Given the description of an element on the screen output the (x, y) to click on. 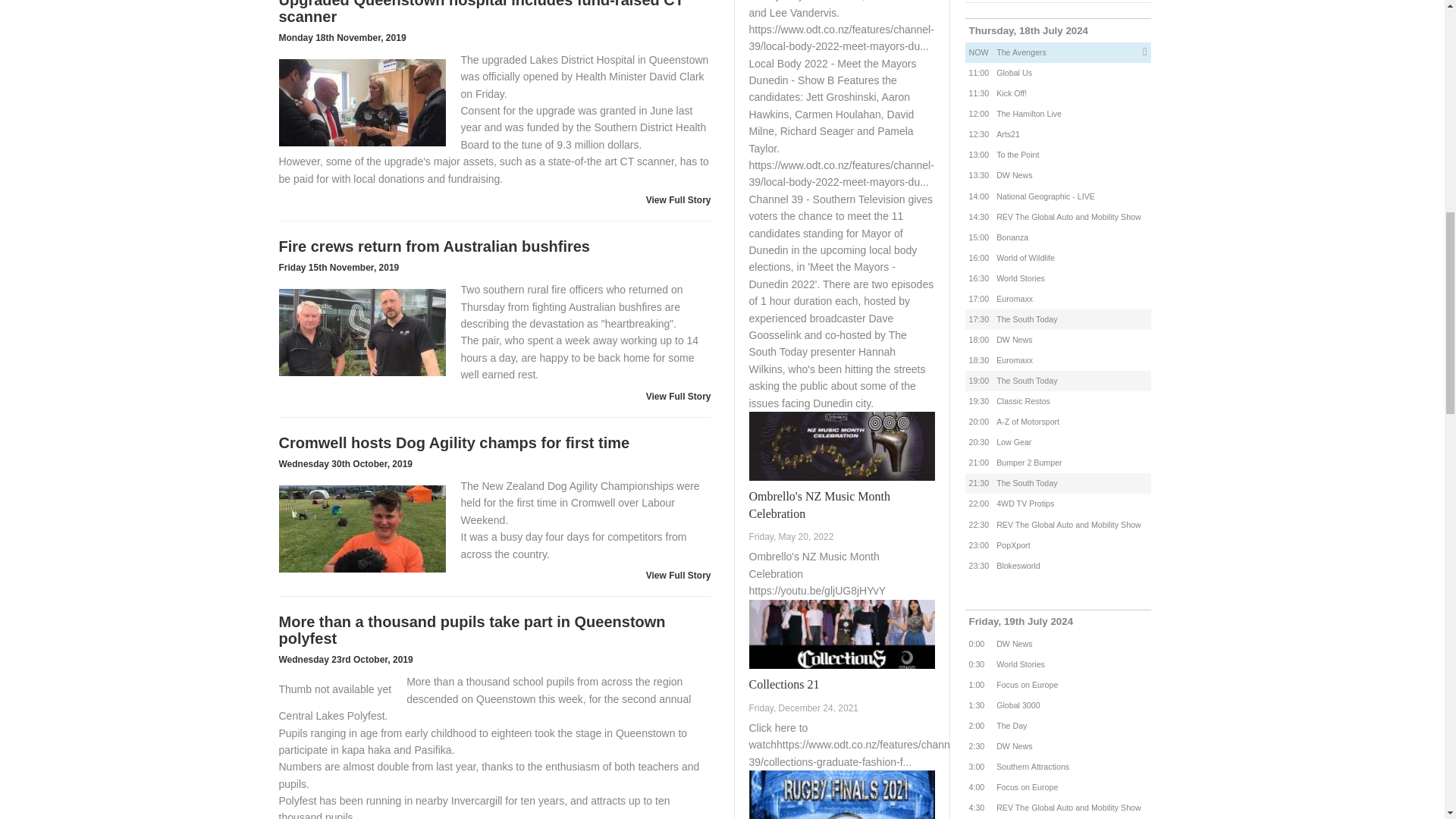
Upgraded Queenstown hospital includes fund-raised CT scanner (362, 102)
Cromwell hosts Dog Agility champs for first time (362, 528)
Fire crews return from Australian bushfires (362, 332)
